Given the description of an element on the screen output the (x, y) to click on. 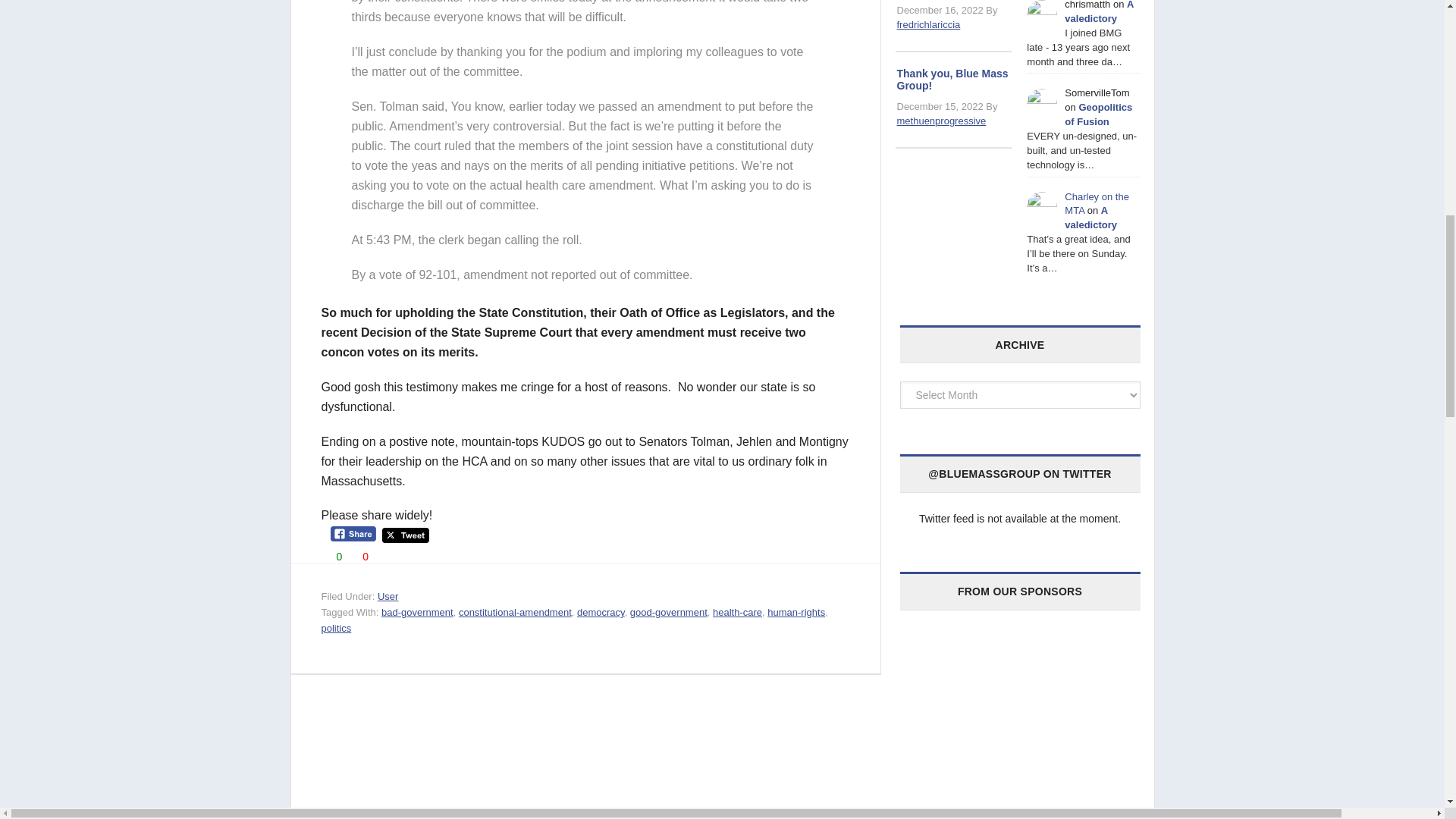
User (387, 595)
Thank you, Blue Mass Group! (951, 78)
health-care (737, 612)
good-government (668, 612)
constitutional-amendment (515, 612)
methuenprogressive (940, 120)
democracy (600, 612)
fredrichlariccia (927, 24)
Tweet (405, 535)
bad-government (416, 612)
